Given the description of an element on the screen output the (x, y) to click on. 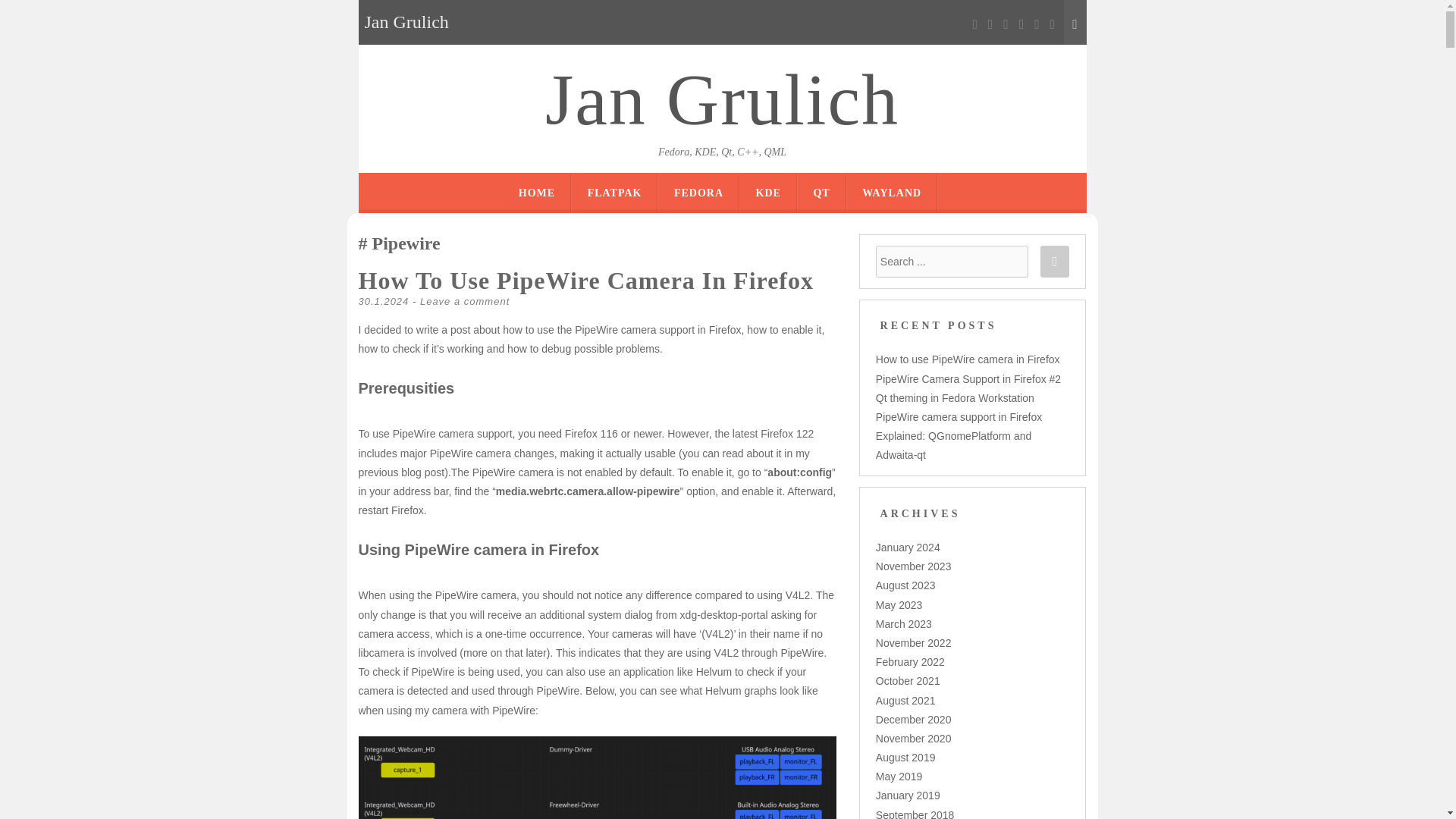
FEDORA (698, 192)
Leave a comment (464, 301)
30.1.2024 (383, 301)
my previous blog post (583, 462)
WAYLAND (891, 192)
How To Use PipeWire Camera In Firefox (585, 280)
FLATPAK (615, 192)
Jan Grulich (721, 99)
HOME (536, 192)
